Given the description of an element on the screen output the (x, y) to click on. 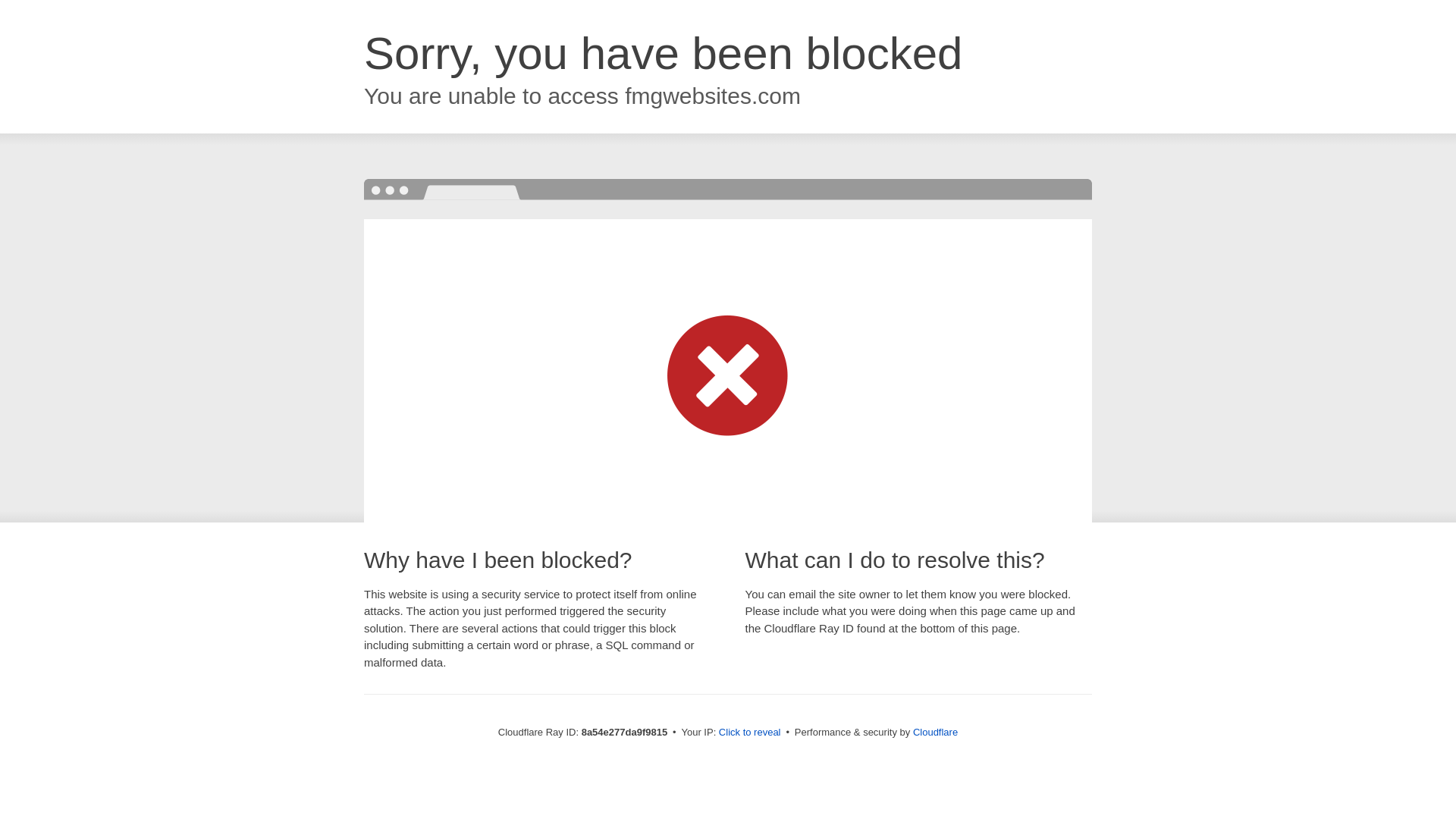
Click to reveal (749, 732)
Cloudflare (935, 731)
